Given the description of an element on the screen output the (x, y) to click on. 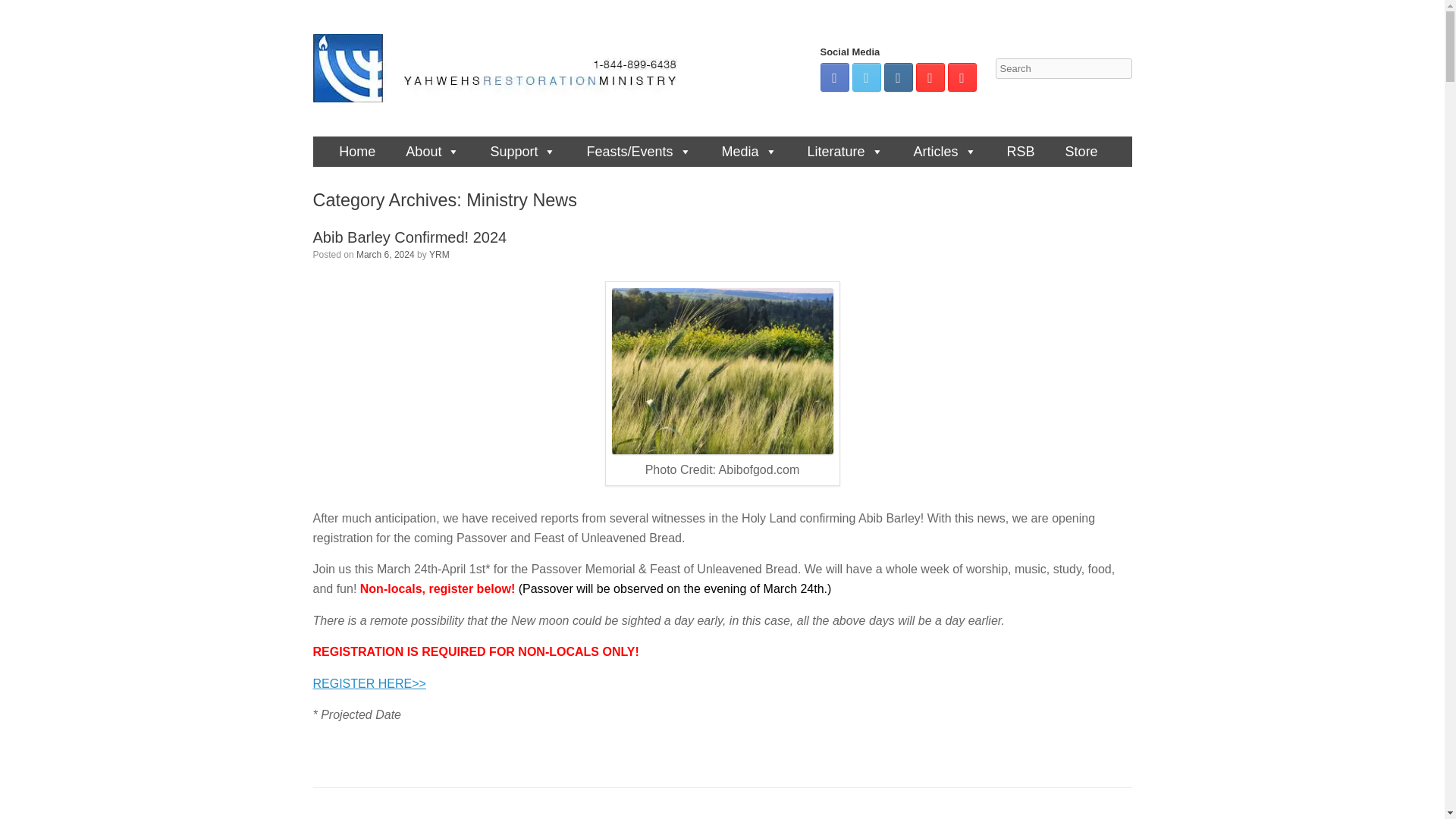
Home (352, 151)
8:41 am (385, 253)
View all posts by YRM (439, 253)
Yahweh's Restoration Ministry (502, 68)
Media (745, 151)
Yahweh's Restoration Ministry Facebook (834, 77)
Permalink to Abib Barley Confirmed! 2024 (409, 237)
Yahweh's Restoration Ministry Twitter (865, 77)
About (428, 151)
Support (519, 151)
Yahweh's Restoration Ministry Pinterest (929, 77)
Yahweh's Restoration Ministry Instagram (897, 77)
Yahweh's Restoration Ministry YouTube (961, 77)
